Given the description of an element on the screen output the (x, y) to click on. 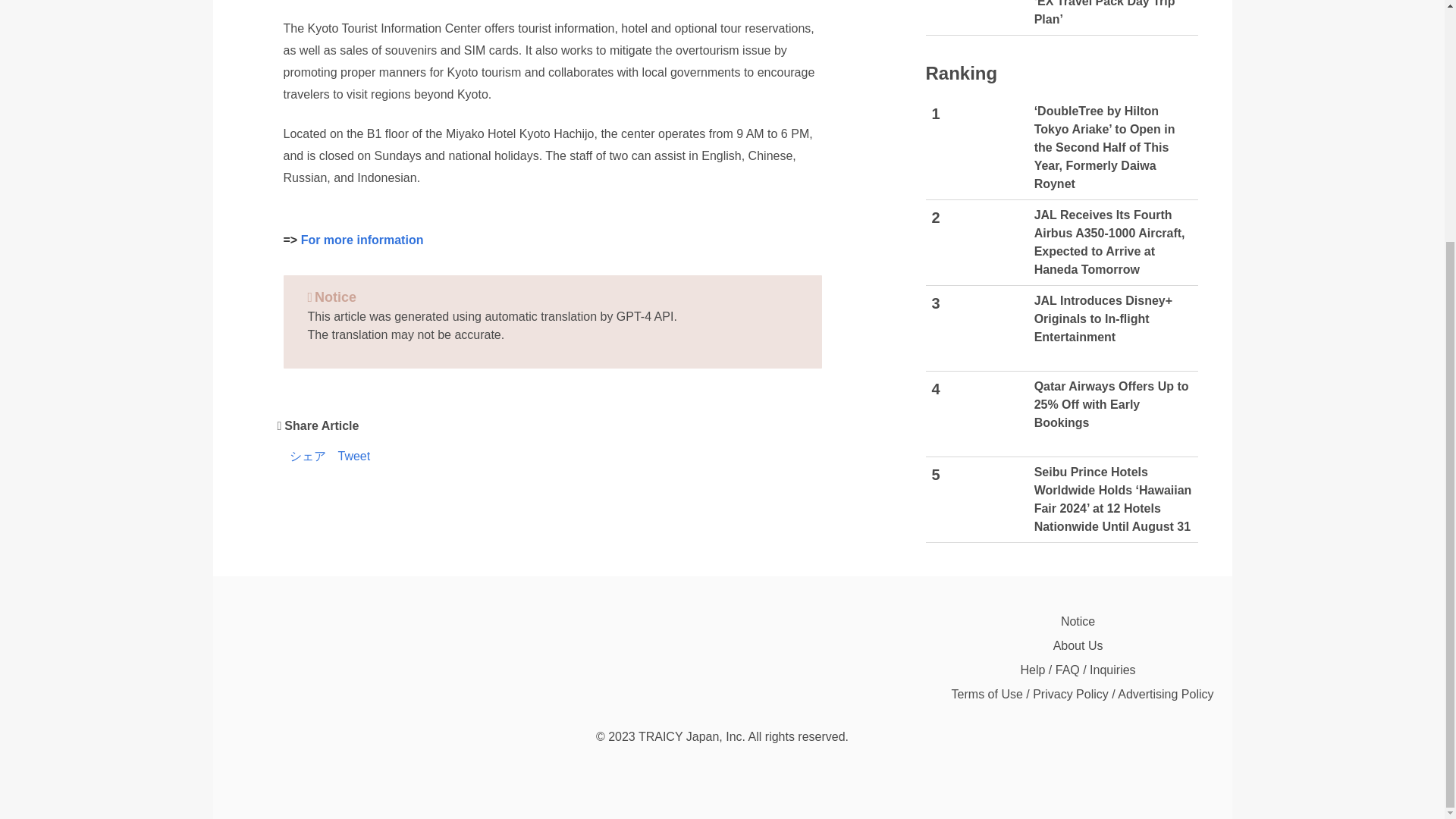
For more information (362, 239)
Tweet (354, 457)
